Given the description of an element on the screen output the (x, y) to click on. 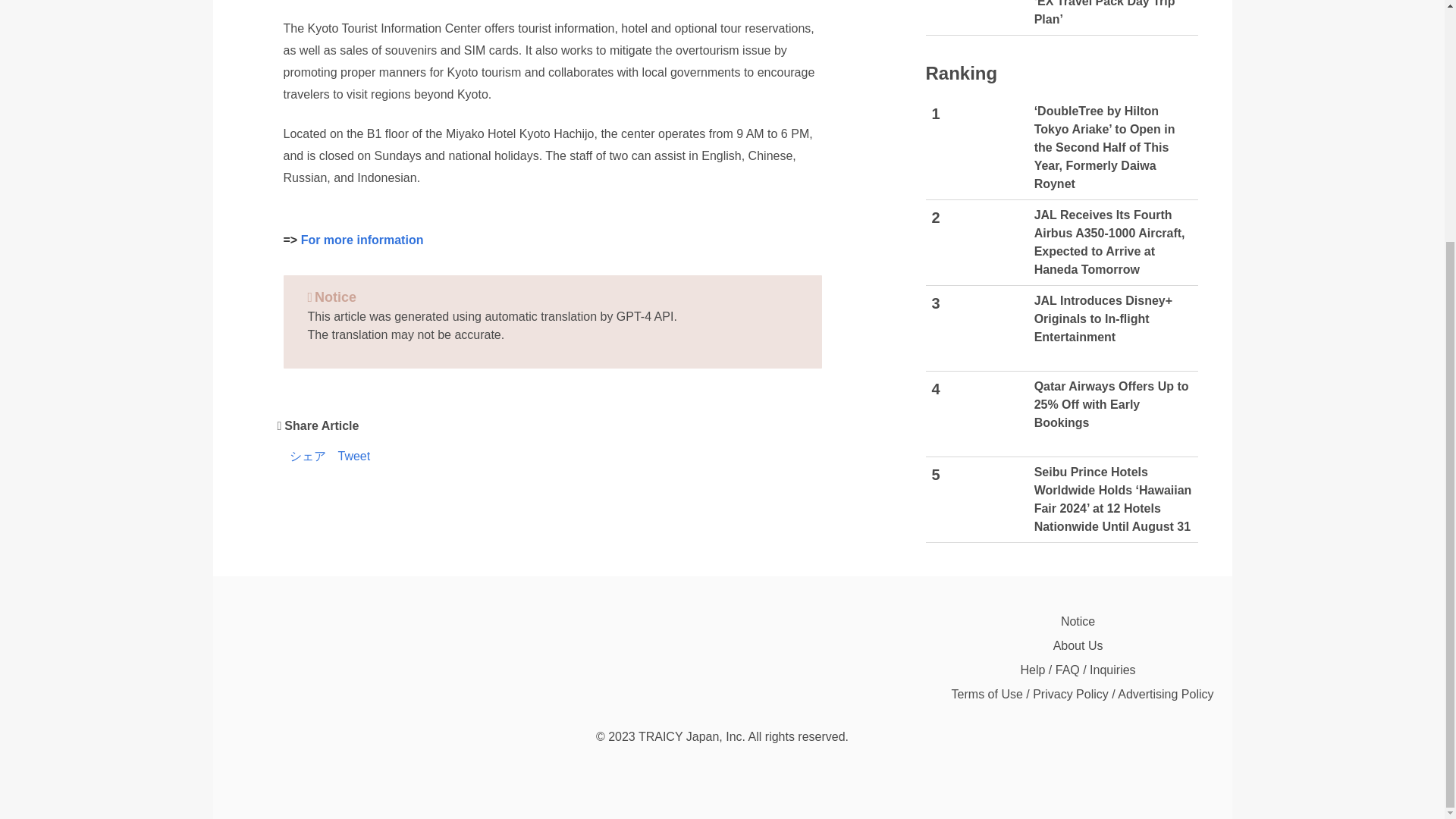
For more information (362, 239)
Tweet (354, 457)
